Given the description of an element on the screen output the (x, y) to click on. 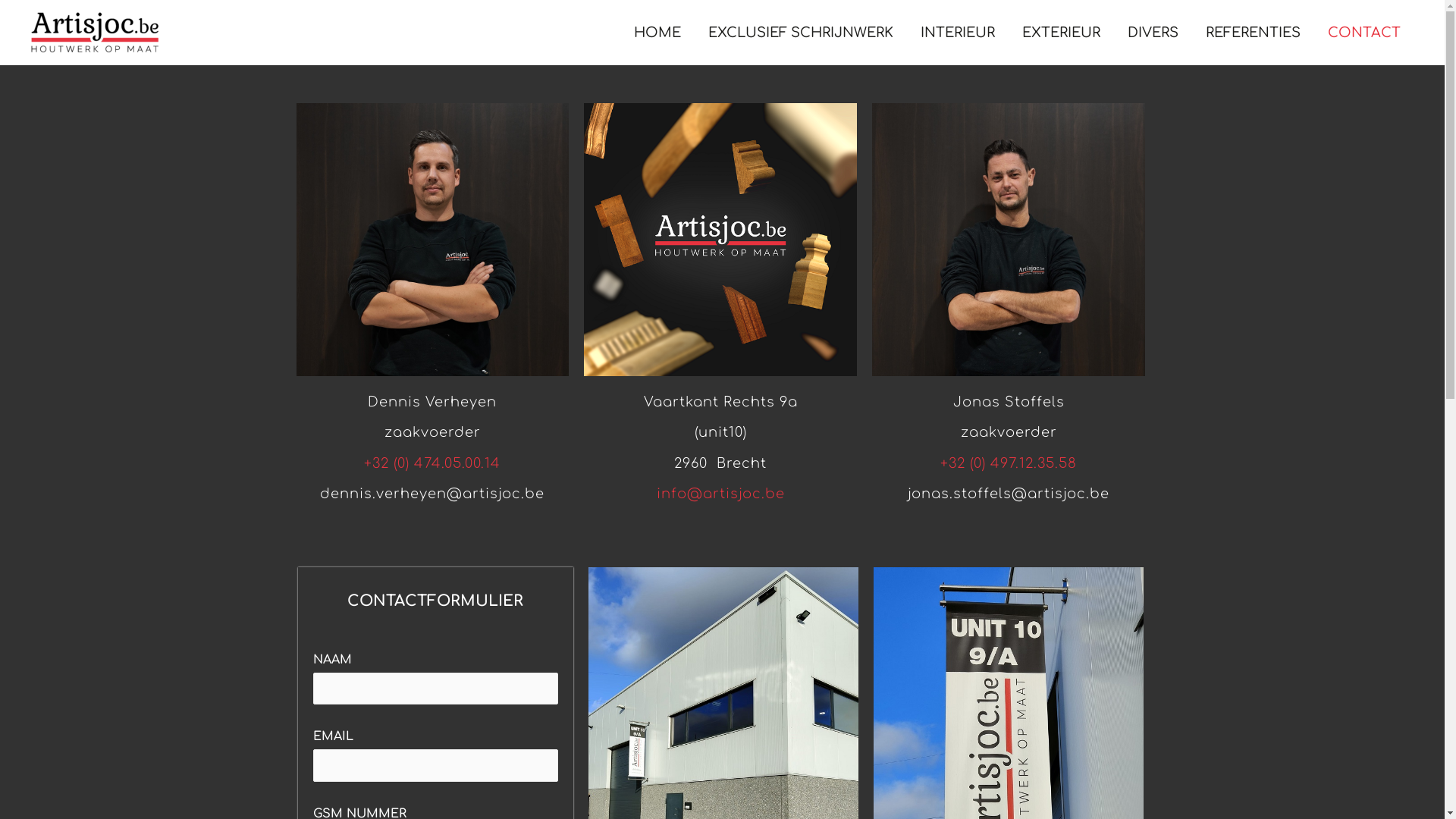
+32 (0) 474.05.00.14 Element type: text (432, 462)
DIVERS Element type: text (1152, 32)
info@artisjoc.be Element type: text (720, 493)
EXTERIEUR Element type: text (1060, 32)
EXCLUSIEF SCHRIJNWERK Element type: text (800, 32)
REFERENTIES Element type: text (1253, 32)
CONTACT Element type: text (1364, 32)
+32 (0) 497.12.35.58 Element type: text (1008, 462)
INTERIEUR Element type: text (957, 32)
HOME Element type: text (657, 32)
